Given the description of an element on the screen output the (x, y) to click on. 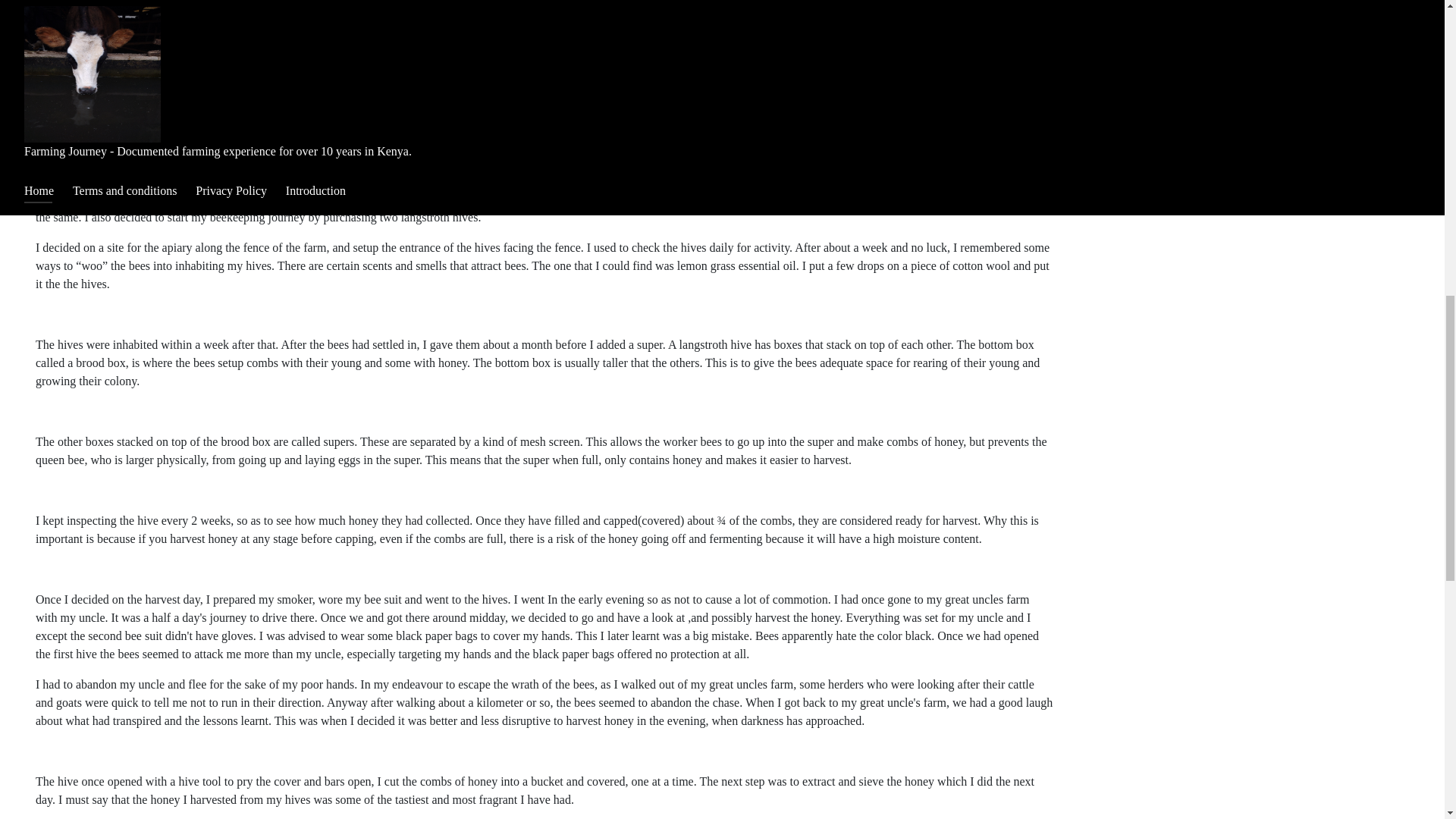
Beehive (543, 19)
